Given the description of an element on the screen output the (x, y) to click on. 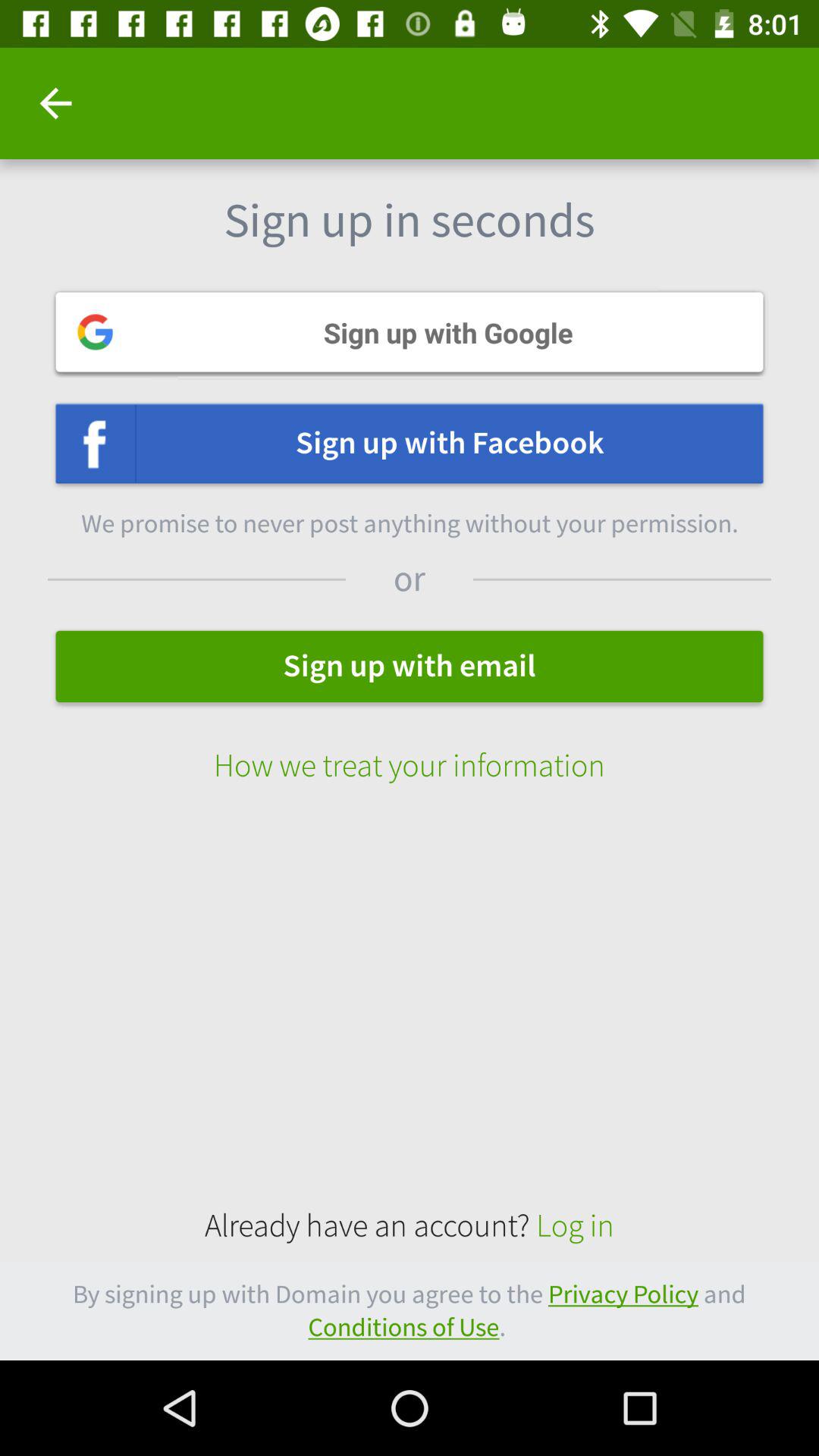
press already have an item (409, 1226)
